Given the description of an element on the screen output the (x, y) to click on. 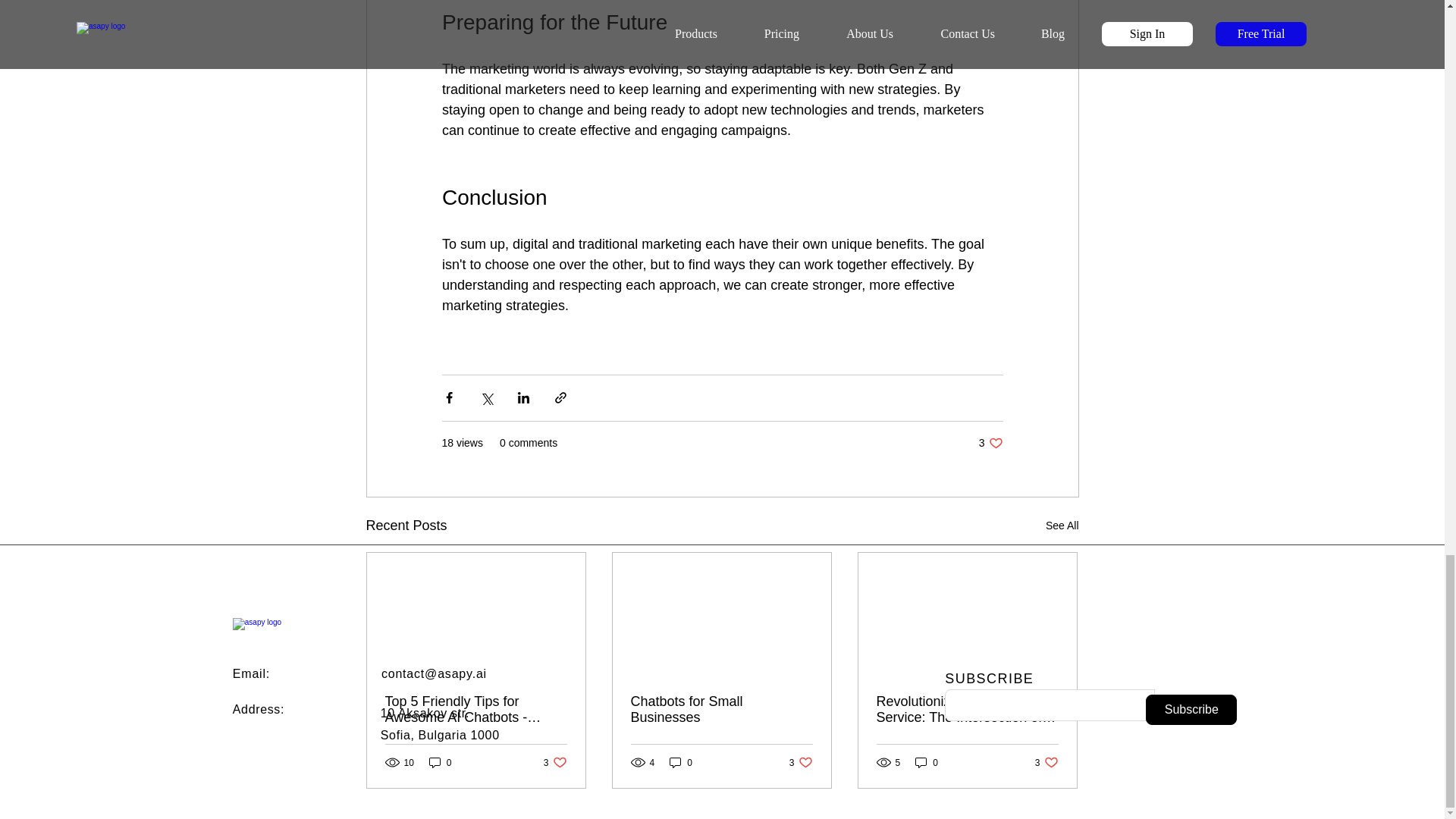
0 (926, 762)
0 (681, 762)
Address: (257, 708)
See All (1061, 526)
Subscribe (555, 762)
